Given the description of an element on the screen output the (x, y) to click on. 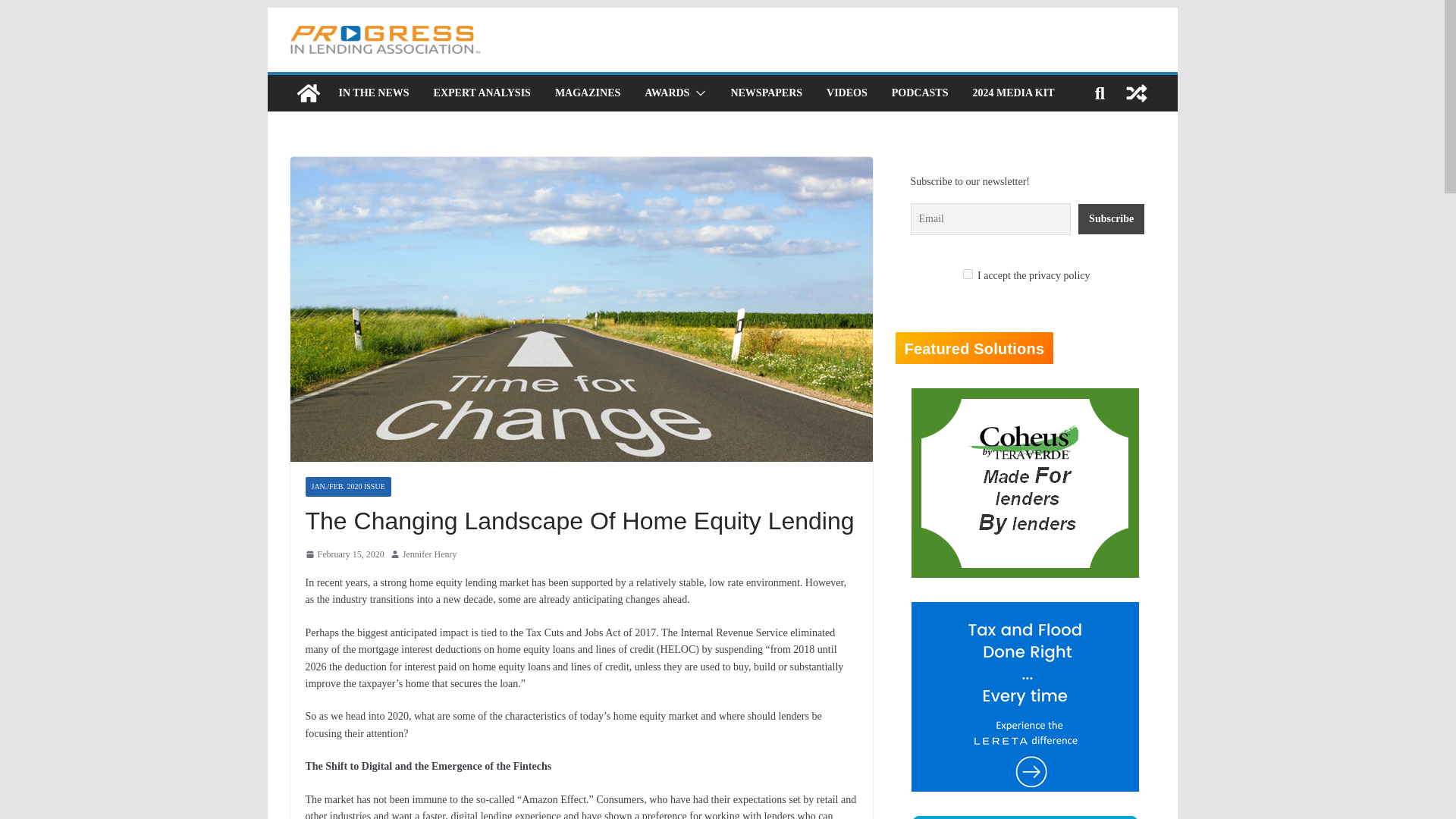
NEWSPAPERS (766, 93)
PROGRESS in Lending (307, 93)
MAGAZINES (587, 93)
IN THE NEWS (373, 93)
February 15, 2020 (344, 554)
View a random post (1136, 93)
EXPERT ANALYSIS (482, 93)
3:00 pm (344, 554)
Jennifer Henry (430, 554)
